Given the description of an element on the screen output the (x, y) to click on. 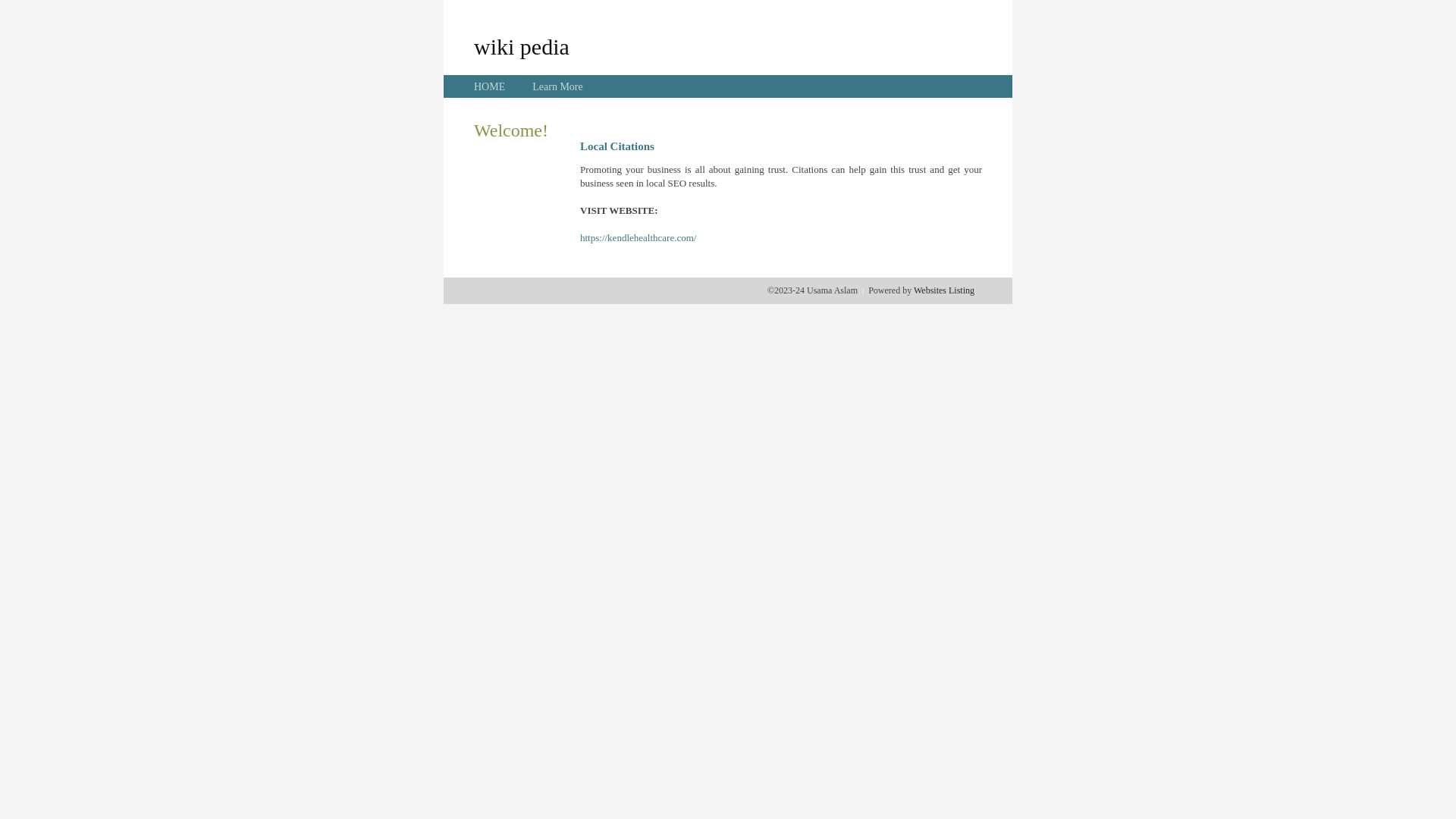
Learn More Element type: text (557, 86)
HOME Element type: text (489, 86)
wiki pedia Element type: text (521, 46)
https://kendlehealthcare.com/ Element type: text (638, 237)
Websites Listing Element type: text (943, 290)
